Given the description of an element on the screen output the (x, y) to click on. 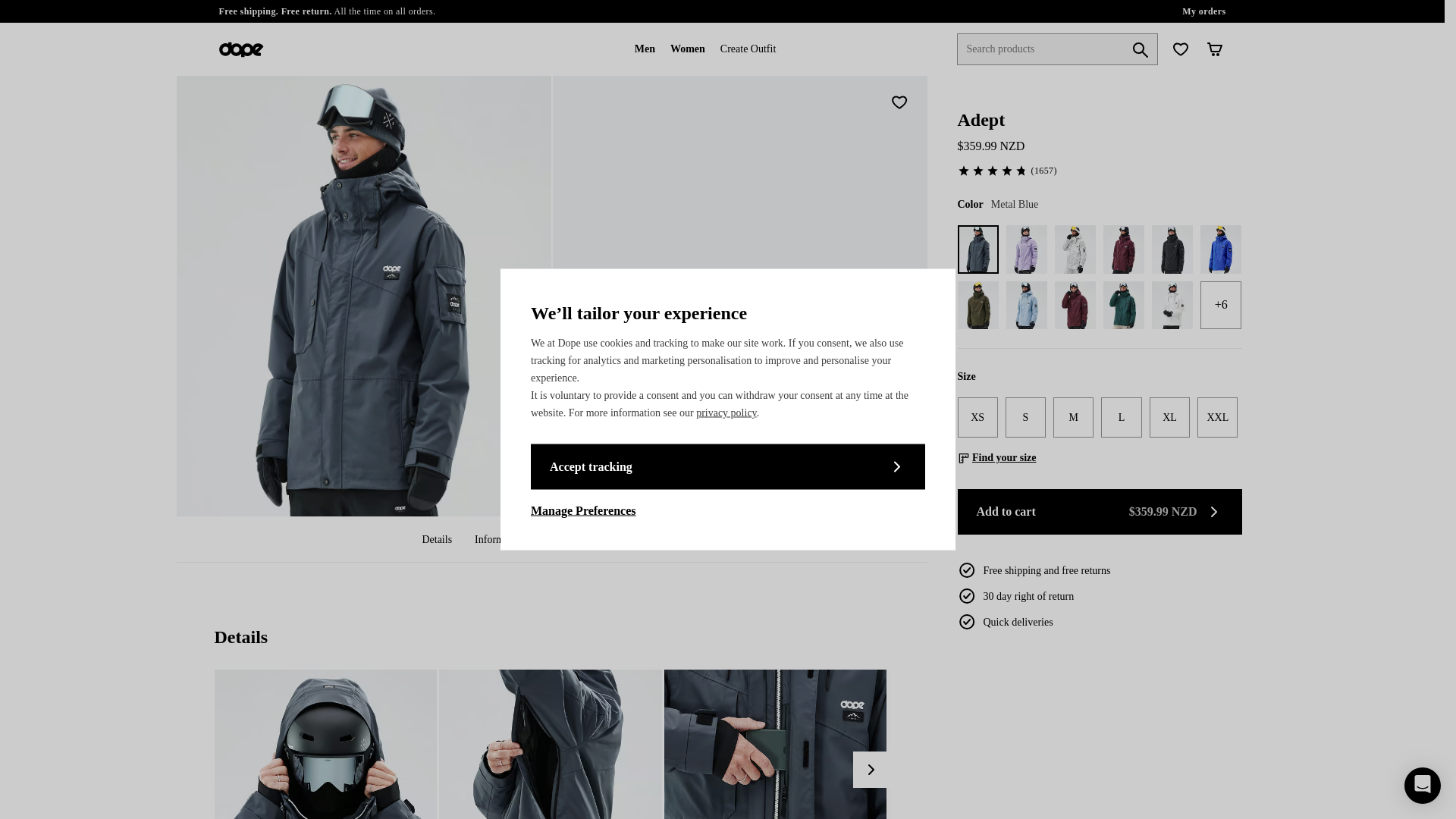
Women (686, 49)
Create Outfit (748, 49)
My orders (1203, 10)
